Given the description of an element on the screen output the (x, y) to click on. 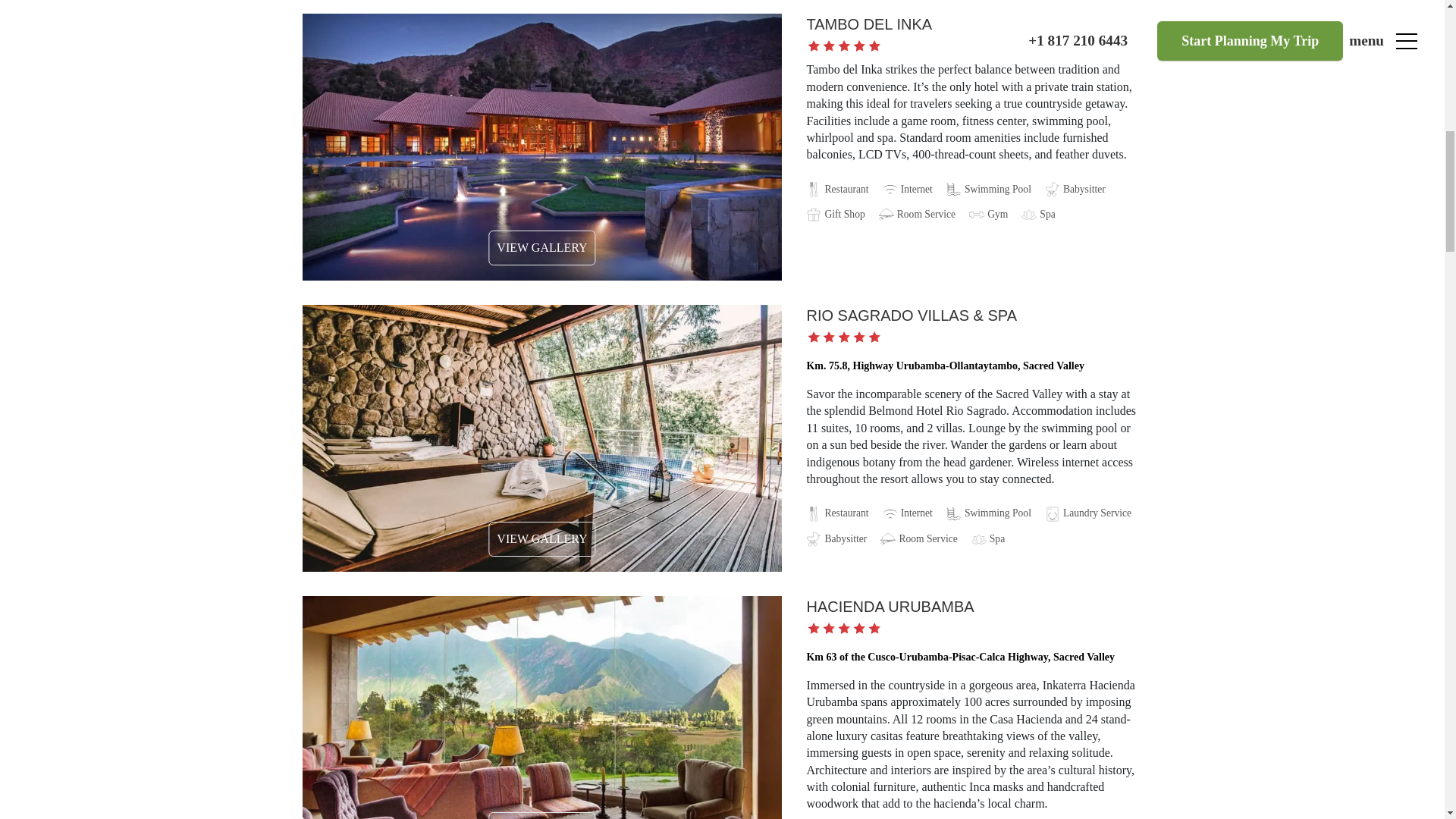
VIEW GALLERY (541, 247)
VIEW GALLERY (541, 538)
VIEW GALLERY (541, 815)
